Given the description of an element on the screen output the (x, y) to click on. 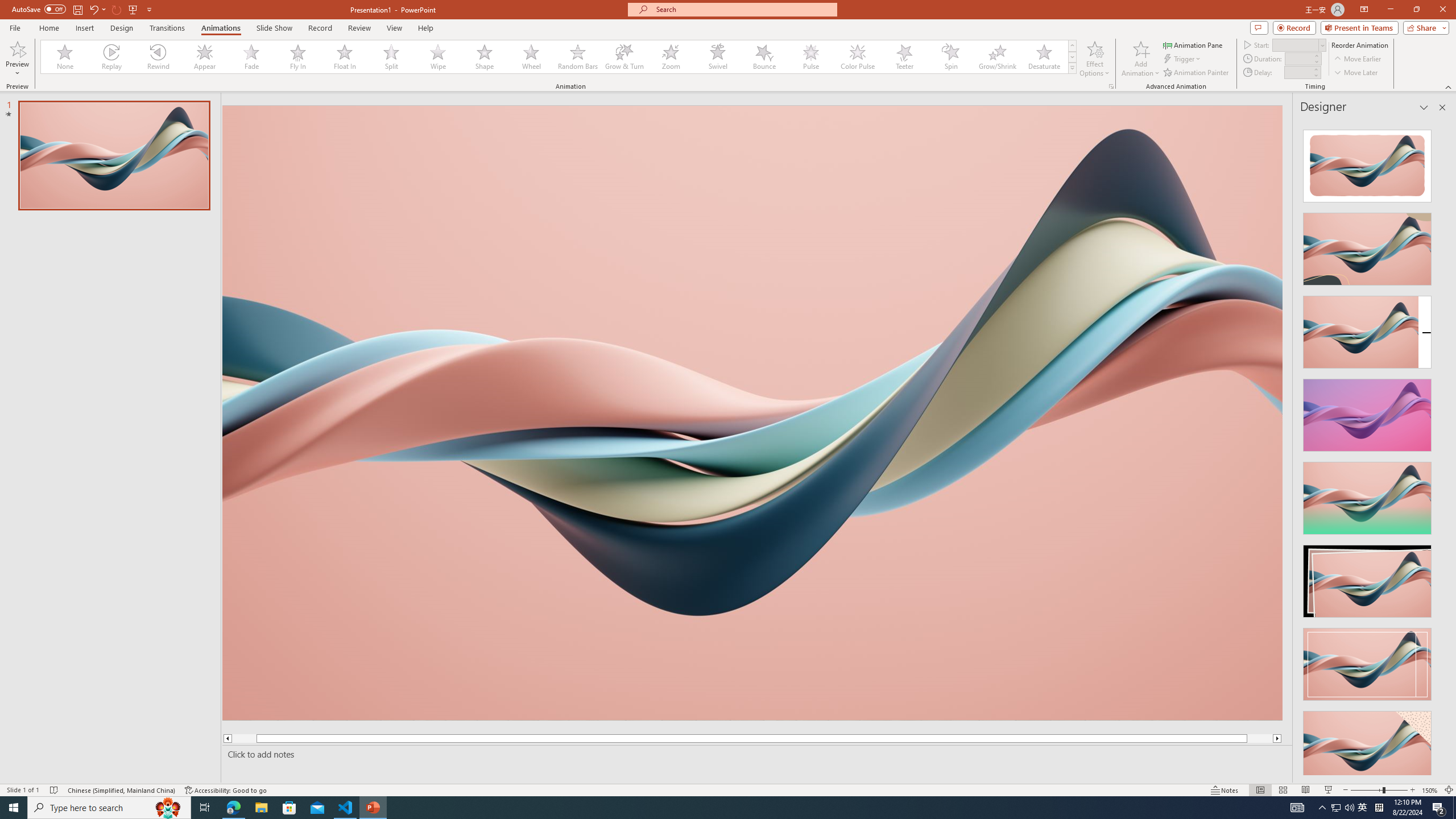
Animation Styles (1071, 67)
Rewind (158, 56)
Animation Pane (1193, 44)
None (65, 56)
Teeter (903, 56)
Spin (950, 56)
Animation Duration (1298, 58)
